Given the description of an element on the screen output the (x, y) to click on. 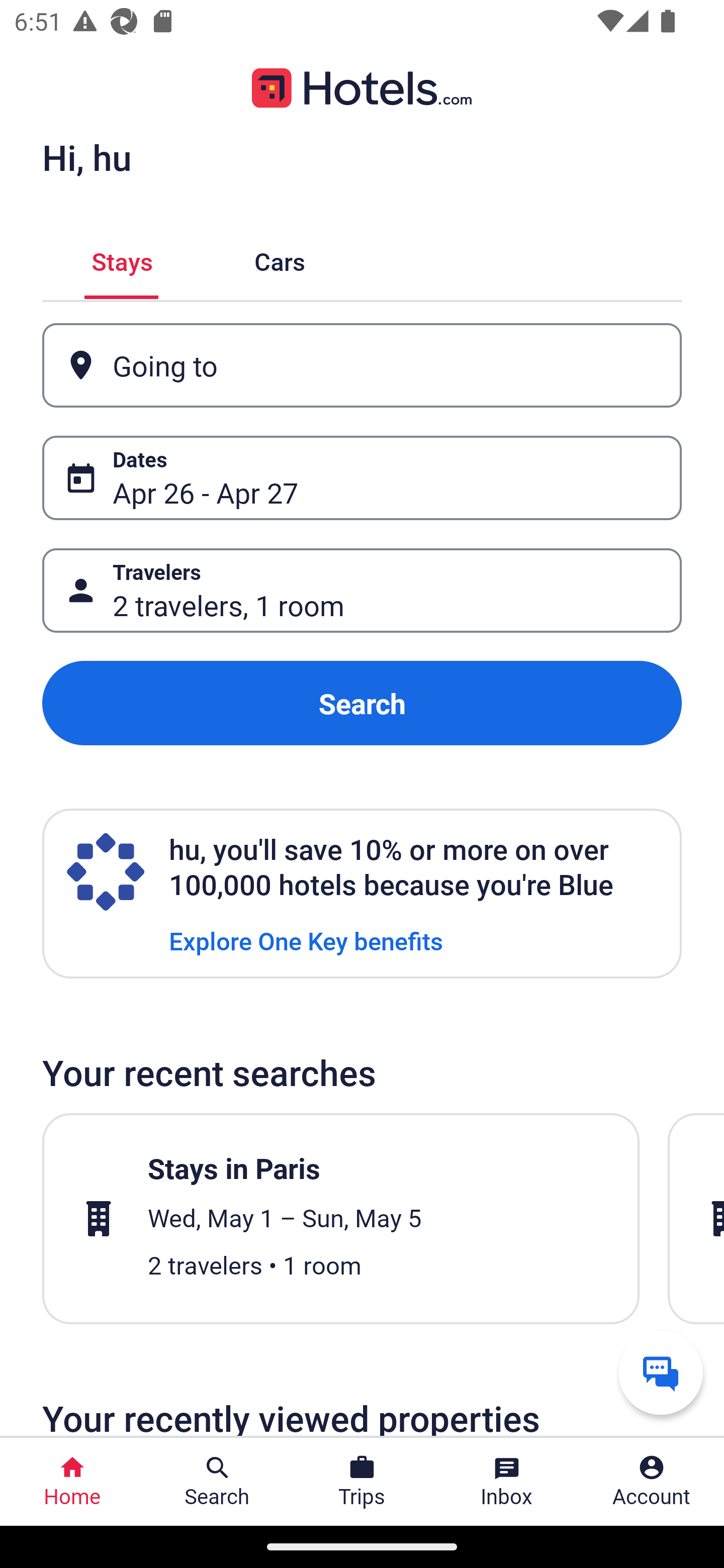
Hi, hu (86, 156)
Cars (279, 259)
Going to Button (361, 365)
Dates Button Apr 26 - Apr 27 (361, 477)
Travelers Button 2 travelers, 1 room (361, 590)
Search (361, 702)
Get help from a virtual agent (660, 1371)
Search Search Button (216, 1481)
Trips Trips Button (361, 1481)
Inbox Inbox Button (506, 1481)
Account Profile. Button (651, 1481)
